Given the description of an element on the screen output the (x, y) to click on. 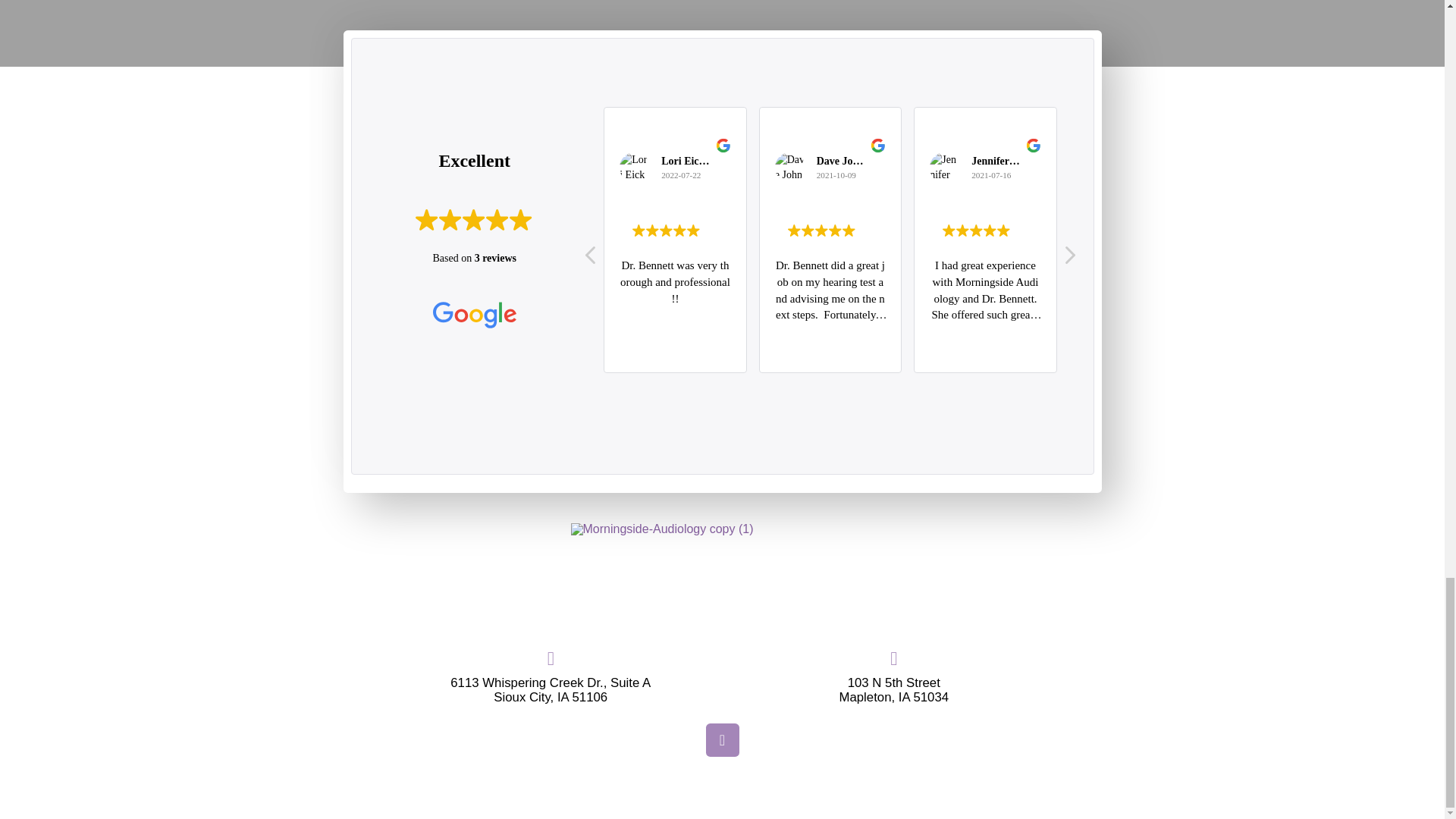
Powered by AuDSEO (722, 802)
